Given the description of an element on the screen output the (x, y) to click on. 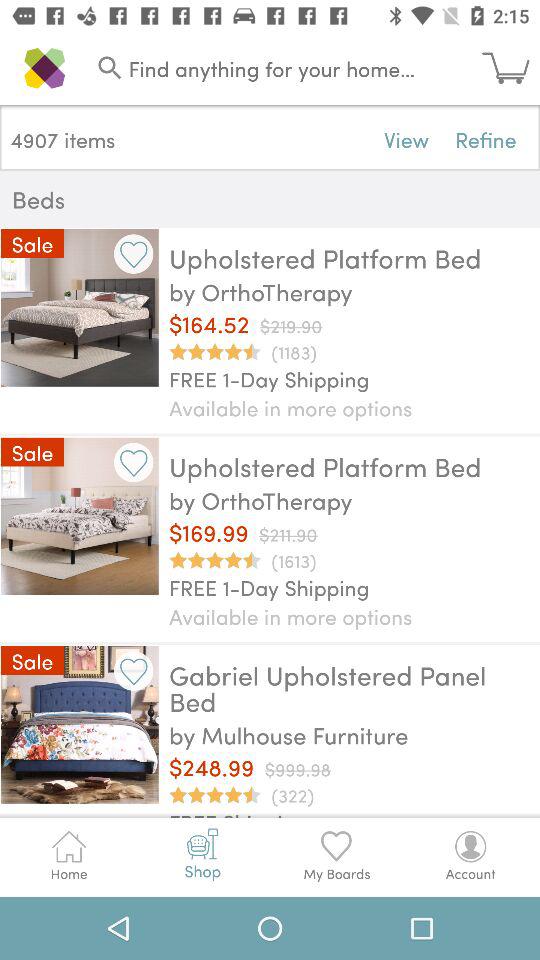
bookmark item (133, 253)
